Given the description of an element on the screen output the (x, y) to click on. 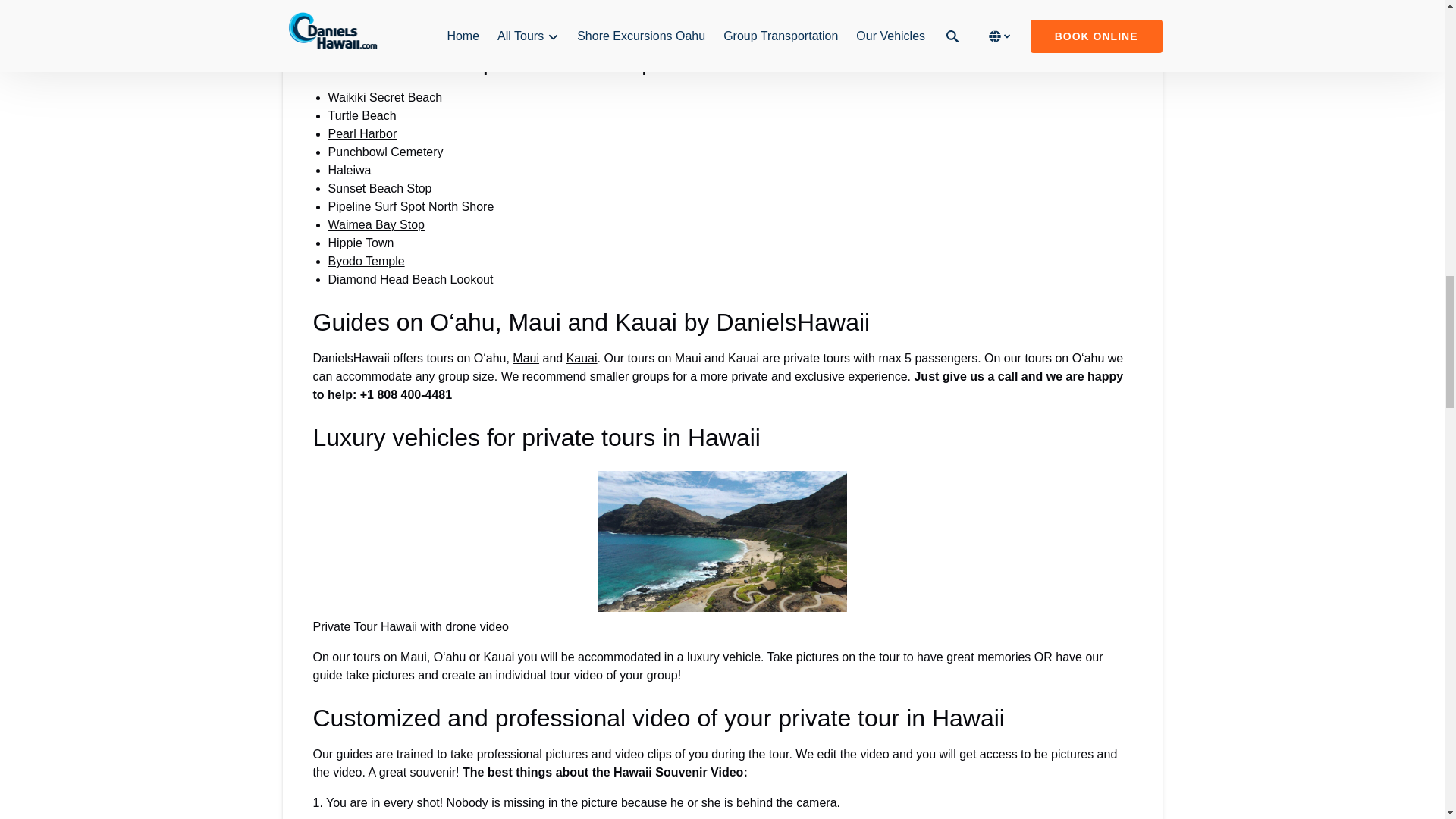
Waimea Bay Stop (375, 224)
Byodo Temple (365, 260)
Pearl Harbor (361, 133)
Maui (525, 358)
Kauai (581, 358)
